Given the description of an element on the screen output the (x, y) to click on. 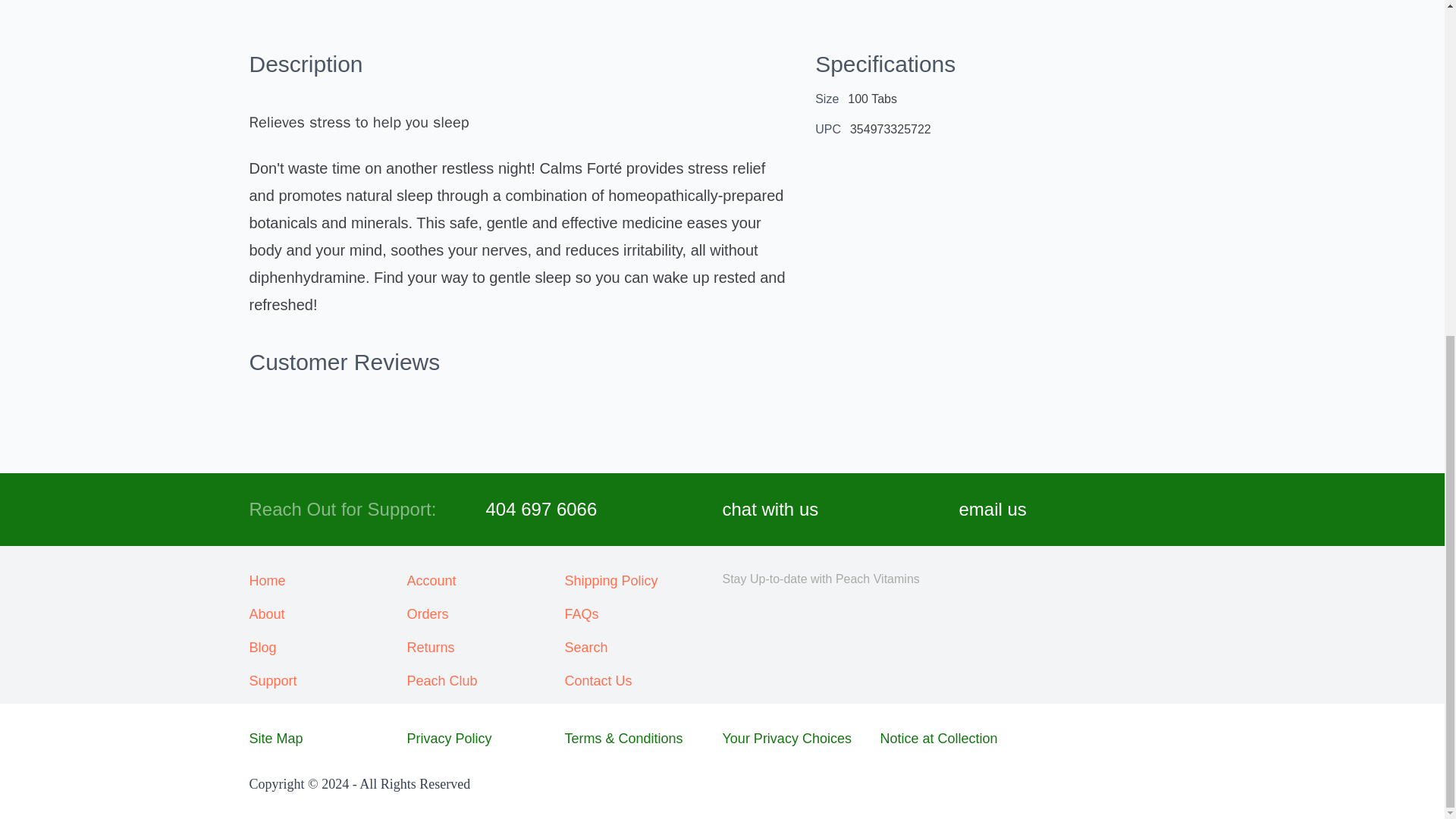
Home (327, 580)
email us (992, 509)
About (327, 613)
chat with us (770, 509)
404 697 6066 (540, 509)
Blog (327, 647)
